Given the description of an element on the screen output the (x, y) to click on. 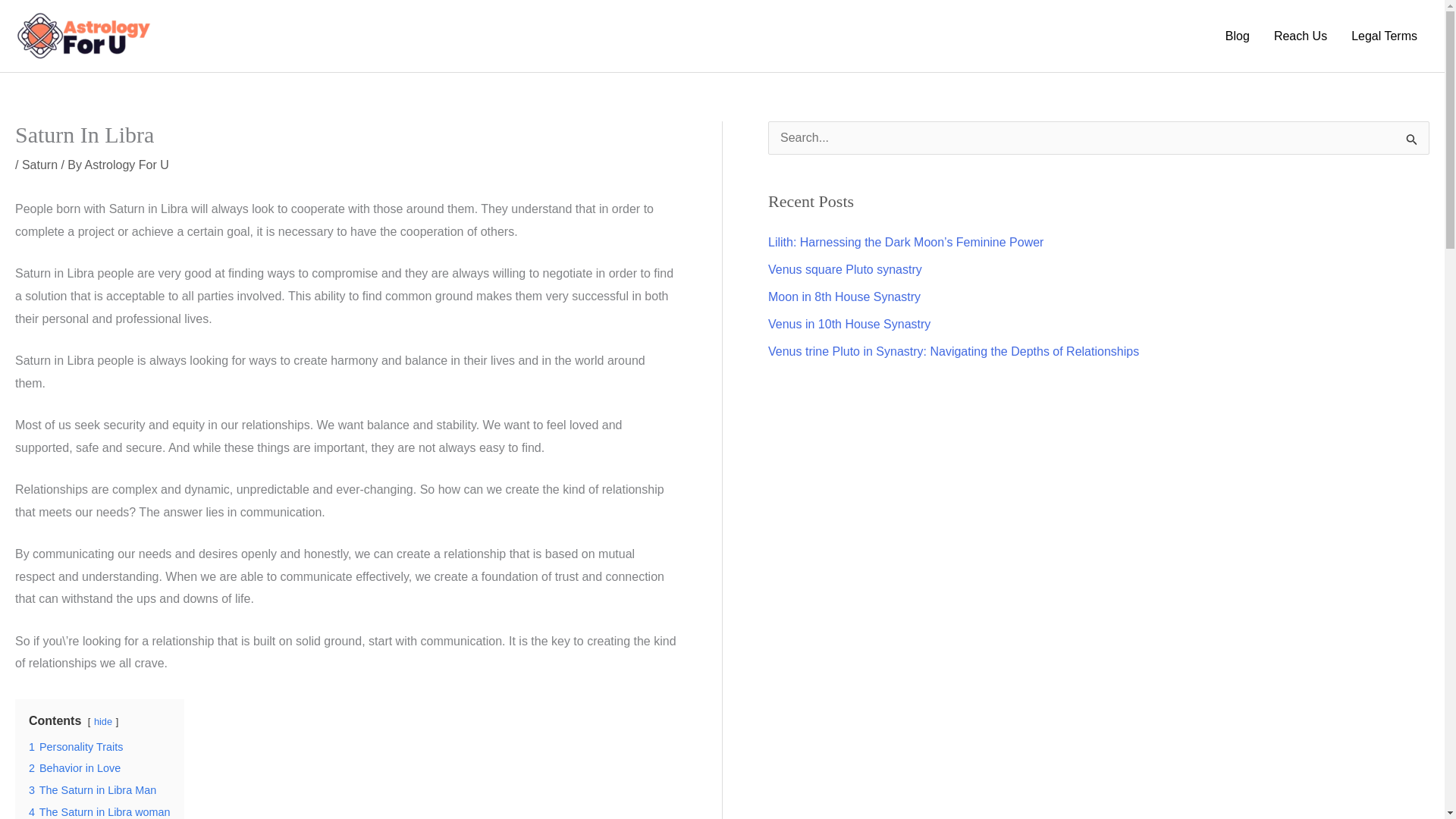
hide (103, 721)
Astrology For U (126, 164)
Saturn (39, 164)
3 The Saturn in Libra Man (92, 789)
Legal Terms (1384, 35)
Reach Us (1300, 35)
1 Personality Traits (75, 746)
View all posts by Astrology For U (126, 164)
Search (1411, 142)
2 Behavior in Love (74, 767)
Blog (1237, 35)
Search (1411, 142)
